Given the description of an element on the screen output the (x, y) to click on. 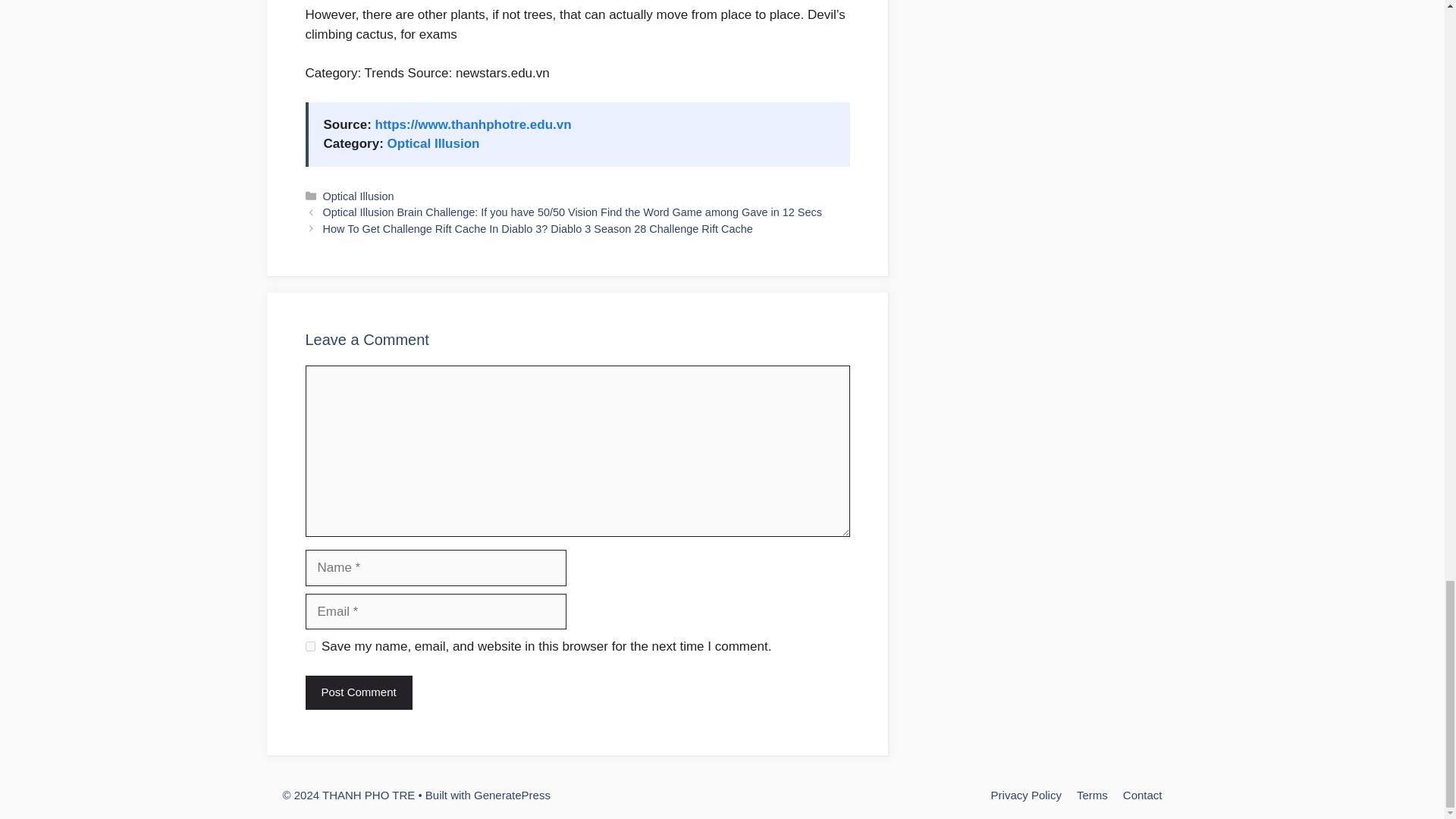
Optical Illusion (358, 196)
GeneratePress (512, 794)
Optical Illusion (433, 143)
Post Comment (358, 692)
yes (309, 646)
Contact (1141, 794)
Post Comment (358, 692)
Privacy Policy (1026, 794)
Terms (1092, 794)
